Given the description of an element on the screen output the (x, y) to click on. 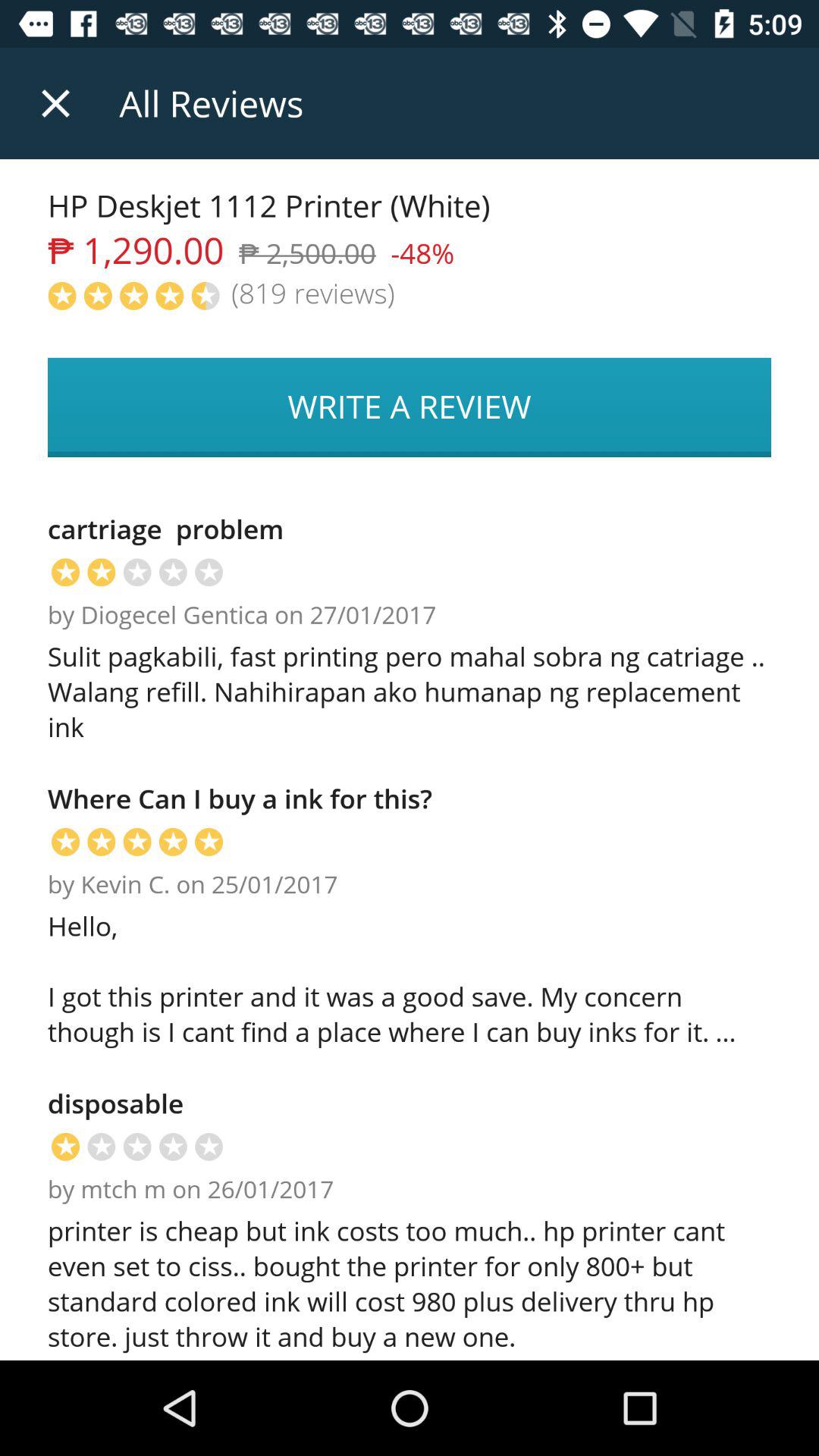
swipe to the write a review icon (409, 407)
